Given the description of an element on the screen output the (x, y) to click on. 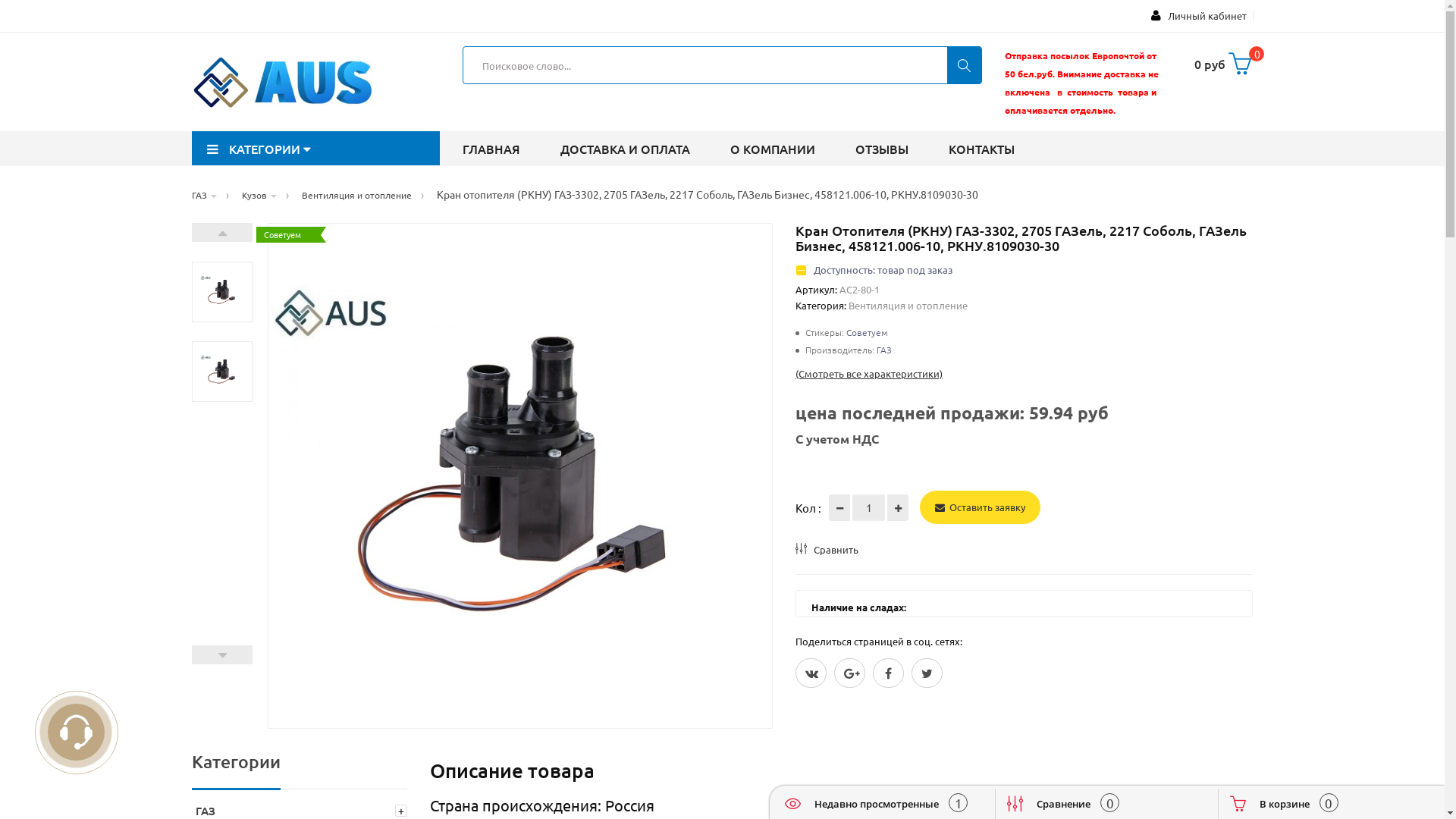
Twitter Element type: hover (810, 672)
Next Element type: text (221, 231)
Google Plus Element type: hover (849, 672)
Twitter Element type: hover (926, 672)
Facebook Element type: hover (887, 672)
Prev Element type: text (221, 654)
